Given the description of an element on the screen output the (x, y) to click on. 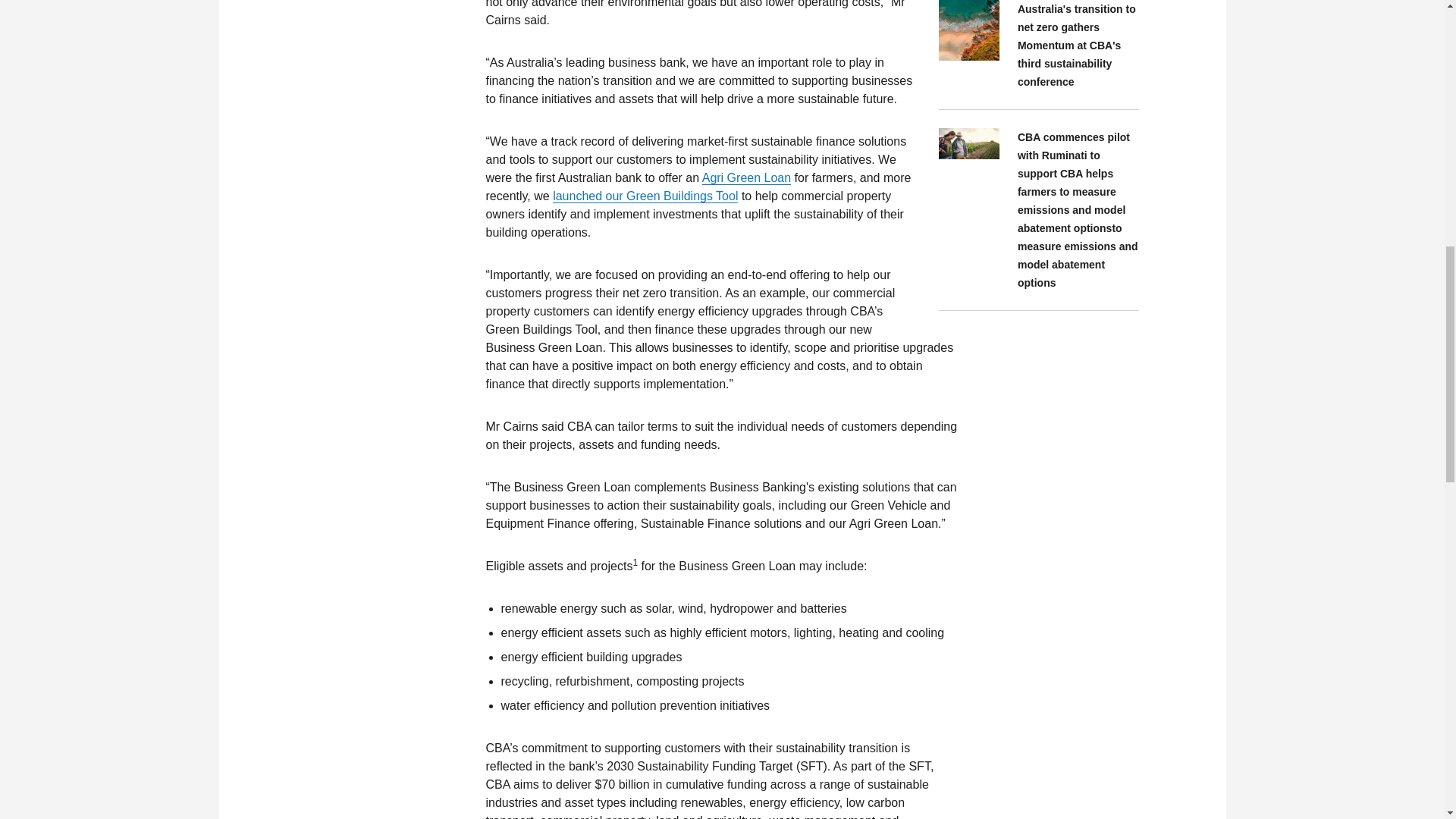
launched our Green Buildings Tool (645, 196)
Agri Green Loan (745, 178)
